Given the description of an element on the screen output the (x, y) to click on. 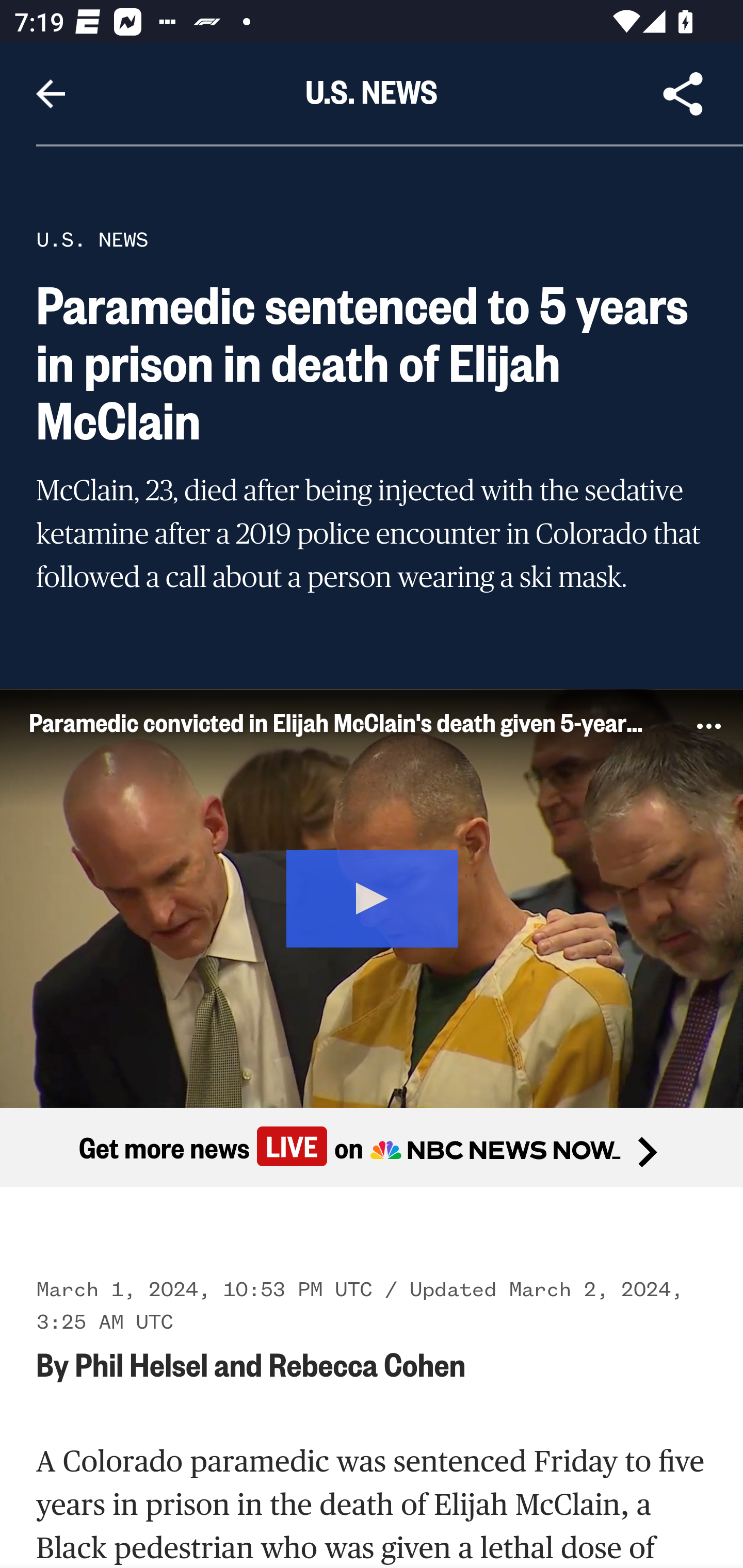
Navigate up (50, 93)
Share Article, button (683, 94)
U.S. NEWS (91, 239)
Video Player Unable to play media. Play   (371, 897)
Play (372, 896)
Get more news Live on Get more news Live on (371, 1147)
